Given the description of an element on the screen output the (x, y) to click on. 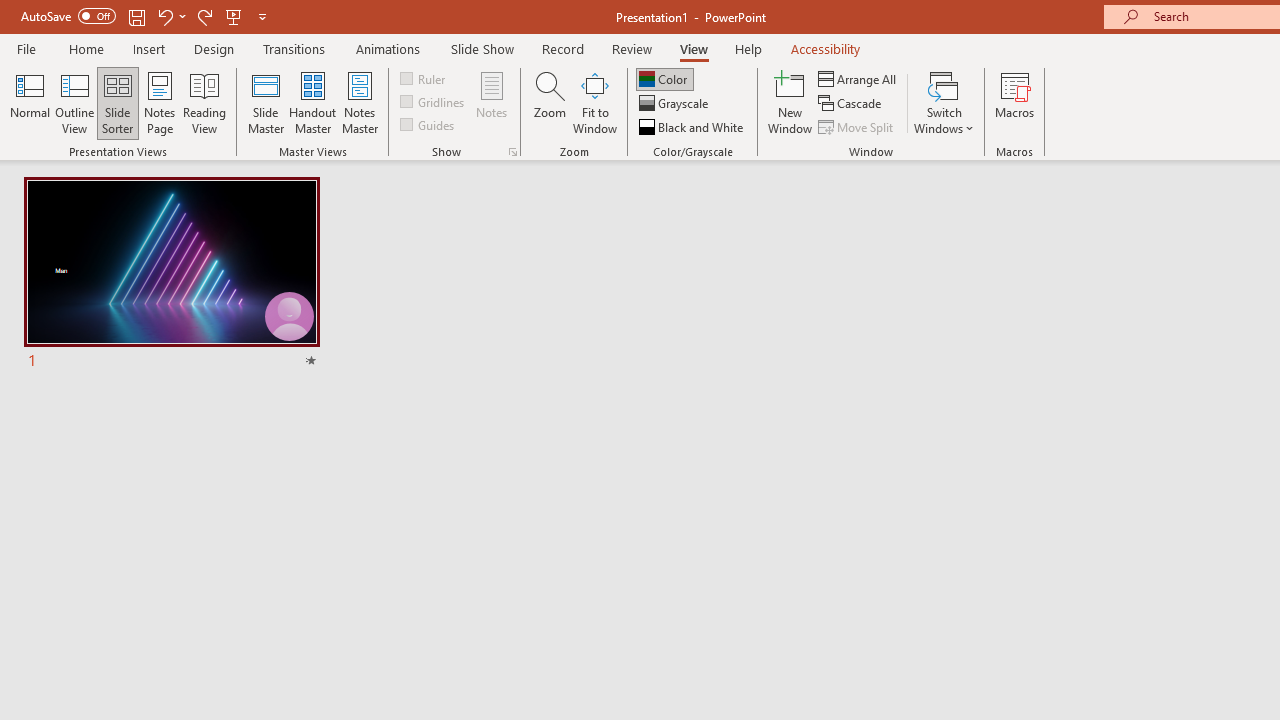
Notes Master (360, 102)
Notes (492, 102)
Move Split (857, 126)
Ruler (423, 78)
Notes Page (159, 102)
Zoom... (549, 102)
New Window (790, 102)
